Given the description of an element on the screen output the (x, y) to click on. 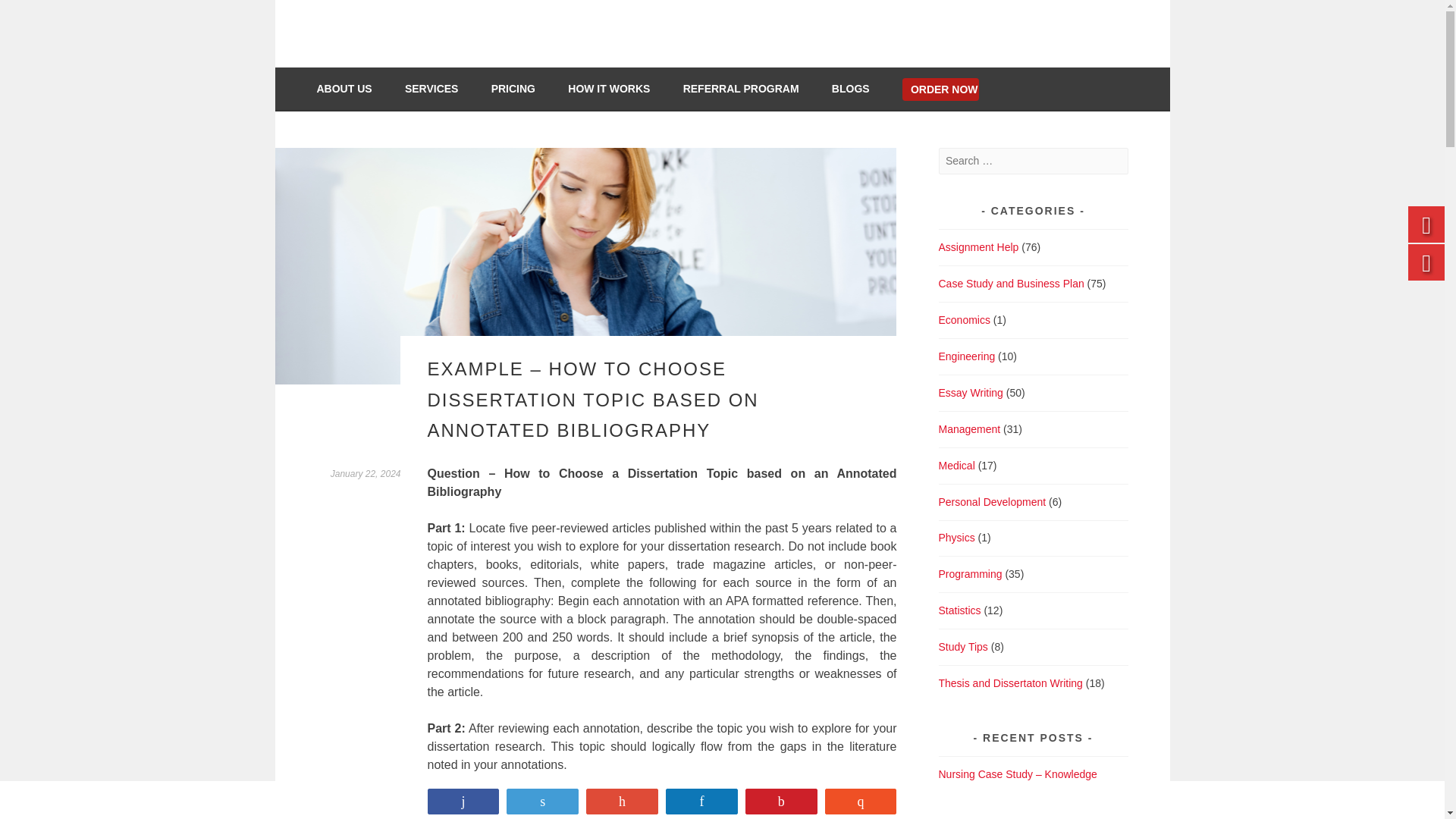
SERVICES (440, 88)
ABOUT US (353, 88)
